Given the description of an element on the screen output the (x, y) to click on. 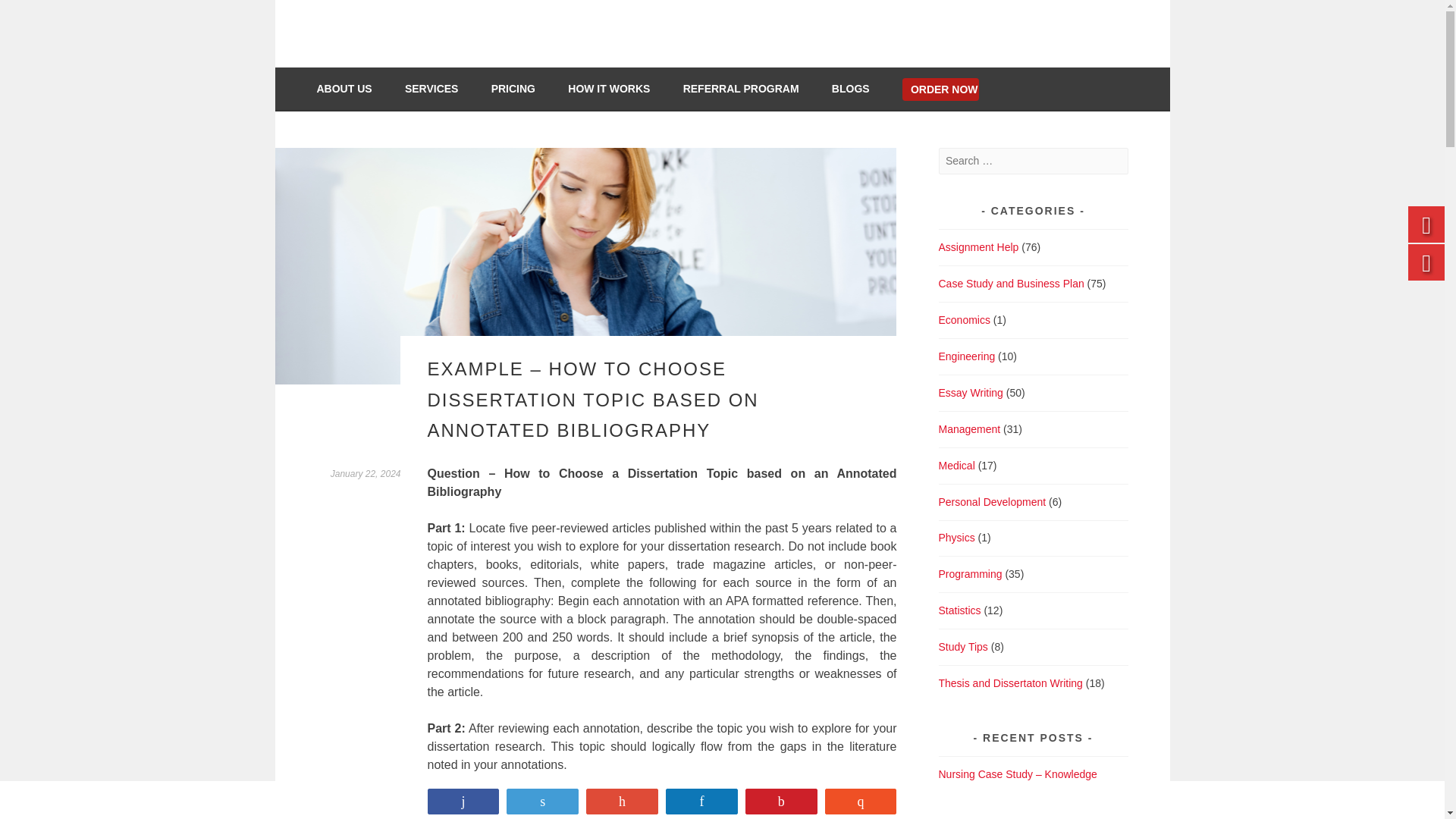
SERVICES (440, 88)
ABOUT US (353, 88)
